Given the description of an element on the screen output the (x, y) to click on. 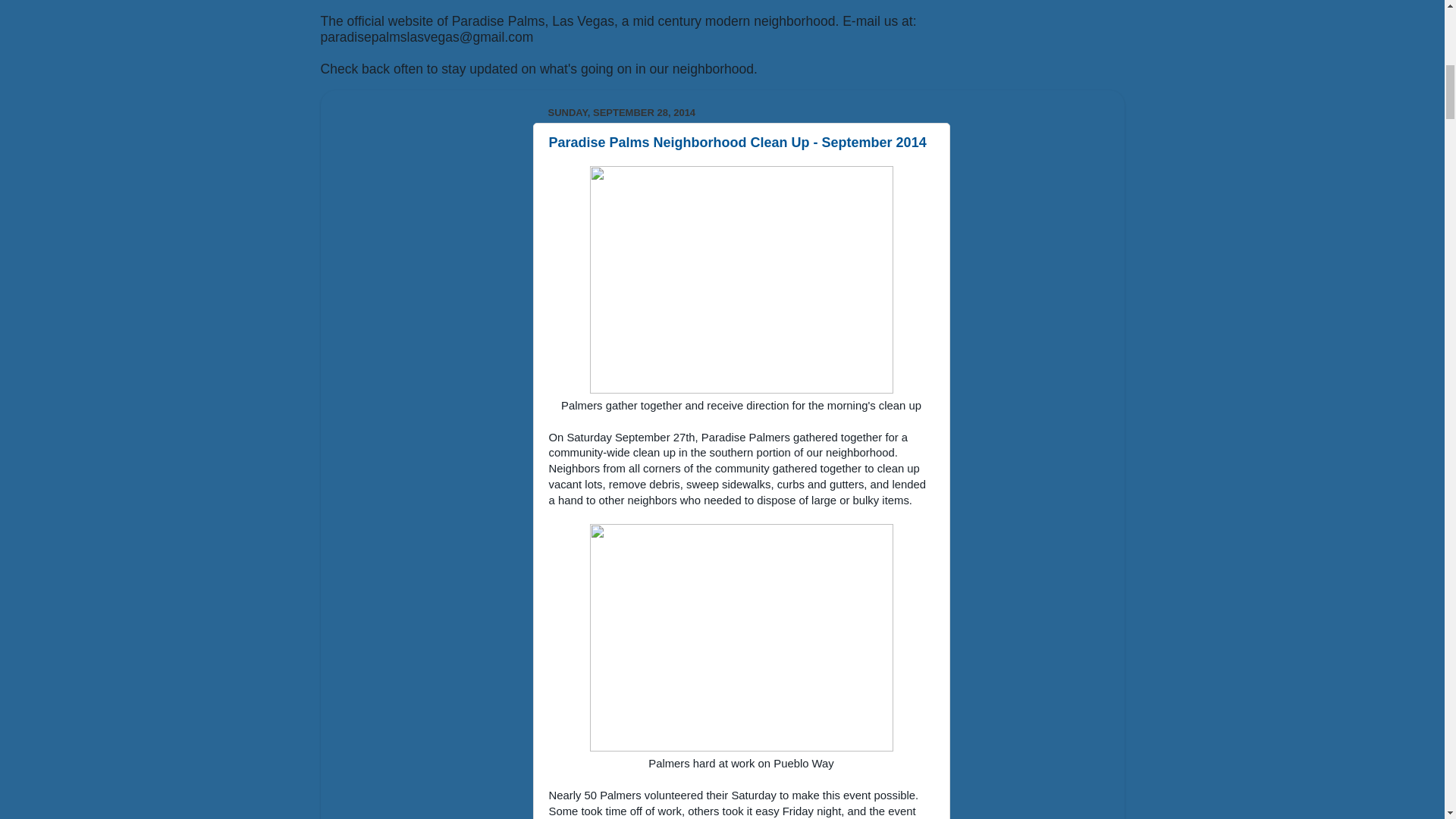
Paradise Palms Neighborhood Clean Up - September 2014 (737, 142)
